Given the description of an element on the screen output the (x, y) to click on. 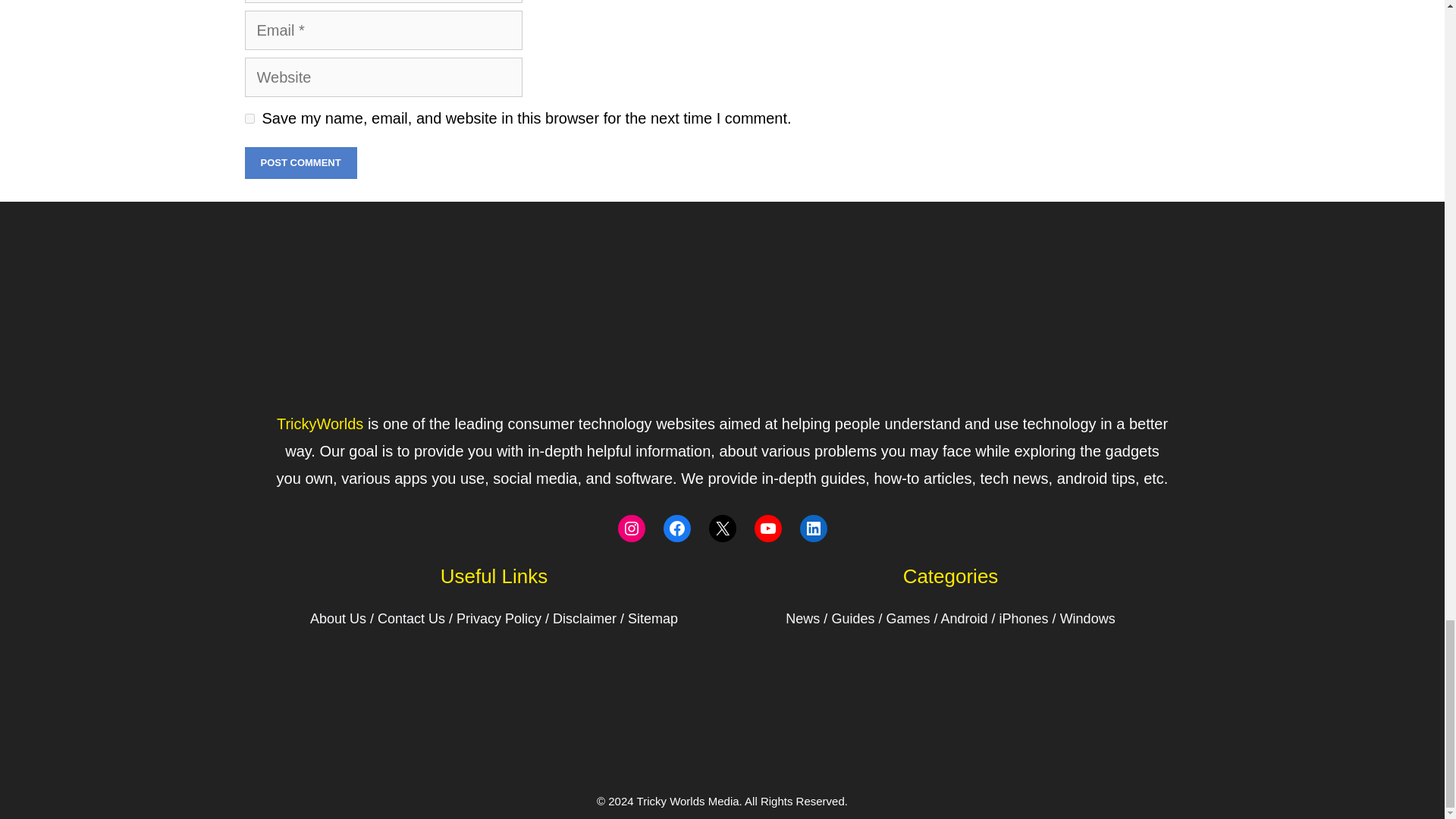
yes (248, 117)
Post Comment (300, 163)
Post Comment (300, 163)
DMCA.com Protection Status (722, 739)
